Given the description of an element on the screen output the (x, y) to click on. 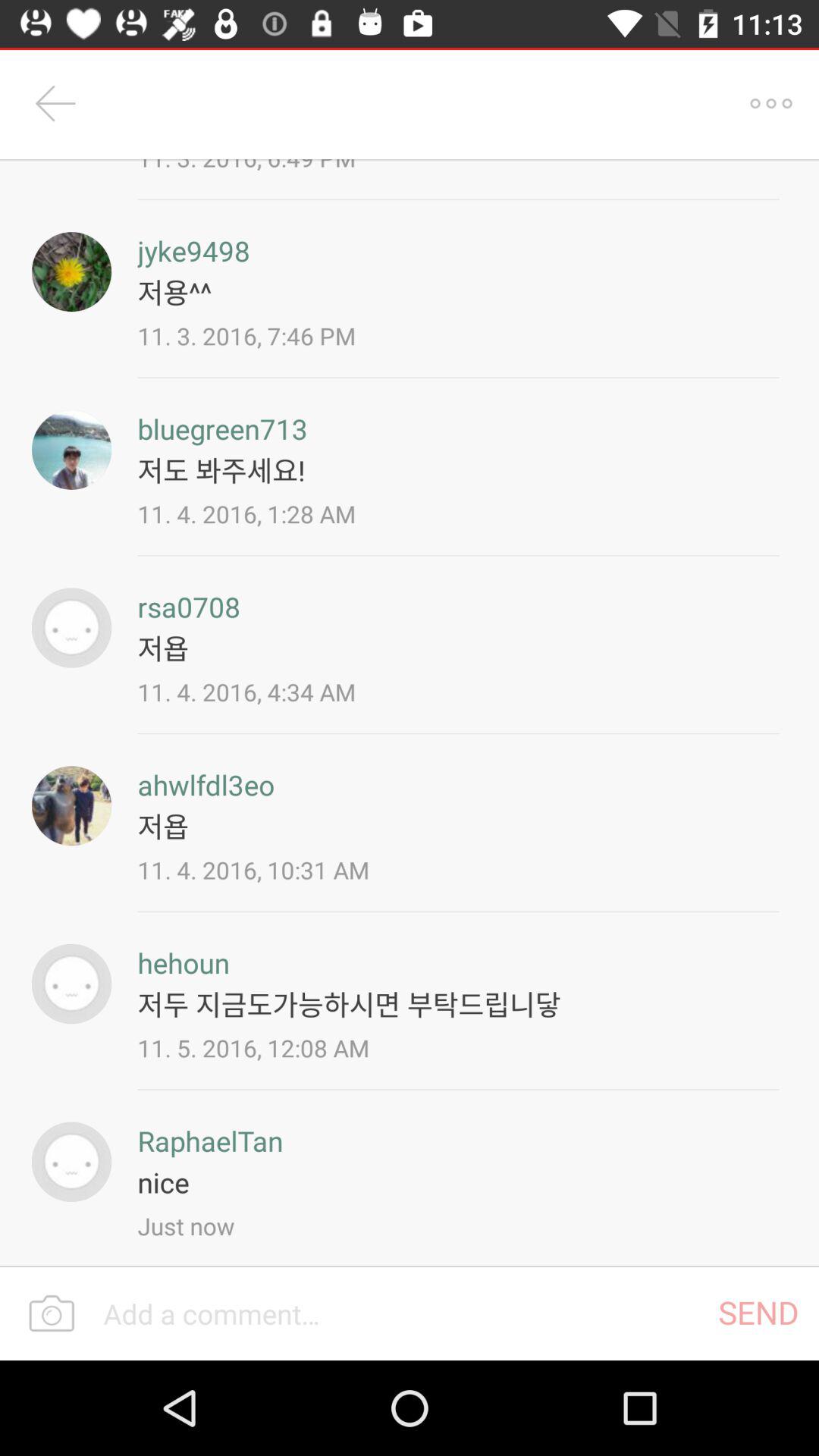
user avatar (71, 271)
